Given the description of an element on the screen output the (x, y) to click on. 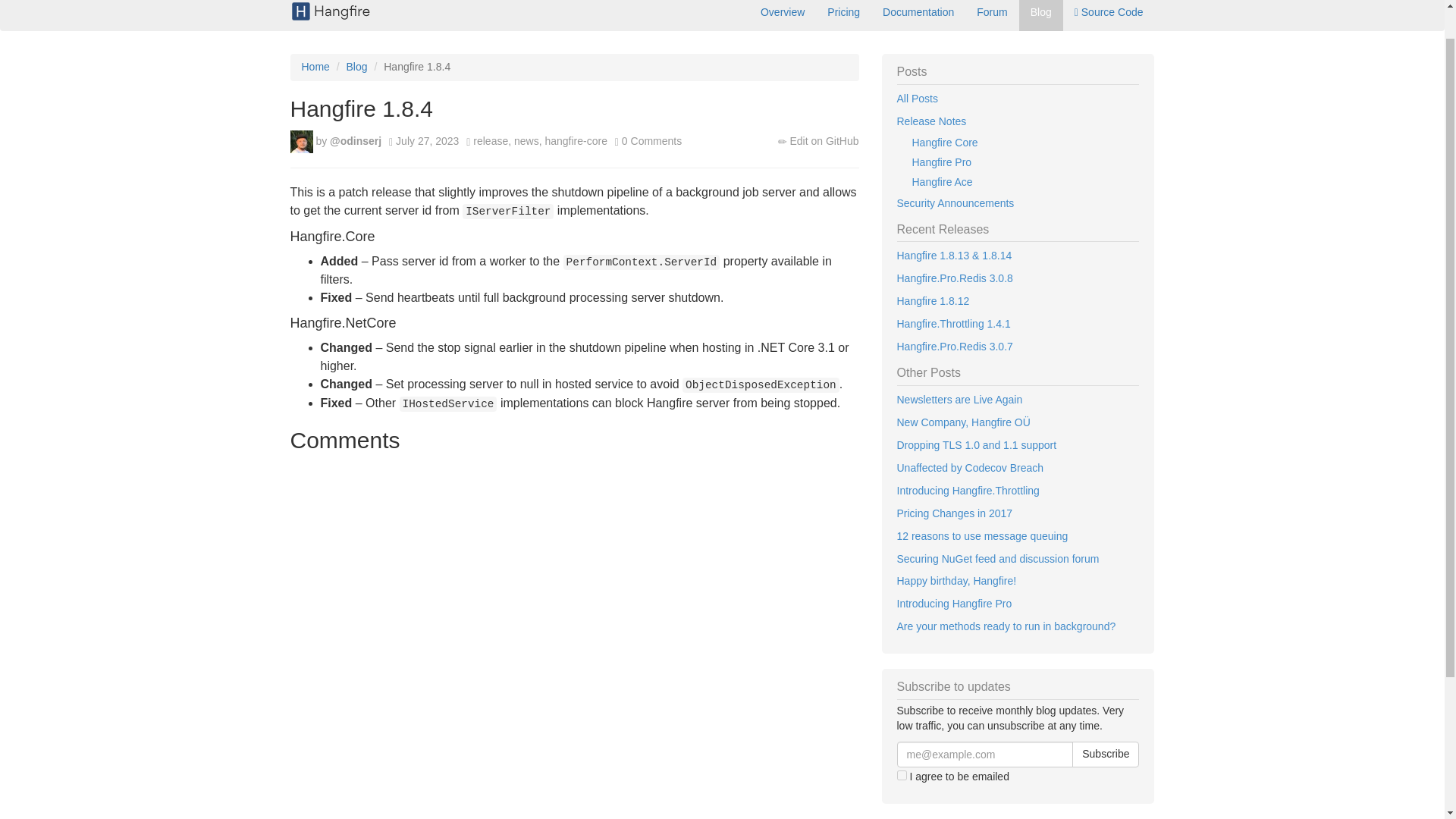
Edit on GitHub (824, 141)
All Posts (1017, 98)
Subscribe (1104, 754)
Release Notes (1017, 121)
on (900, 775)
Security Announcements (1017, 203)
Are your methods ready to run in background? (1017, 626)
Source Code (1108, 15)
Hangfire 1.8.12 (1017, 301)
Hangfire.Throttling 1.4.1 (1017, 323)
